Given the description of an element on the screen output the (x, y) to click on. 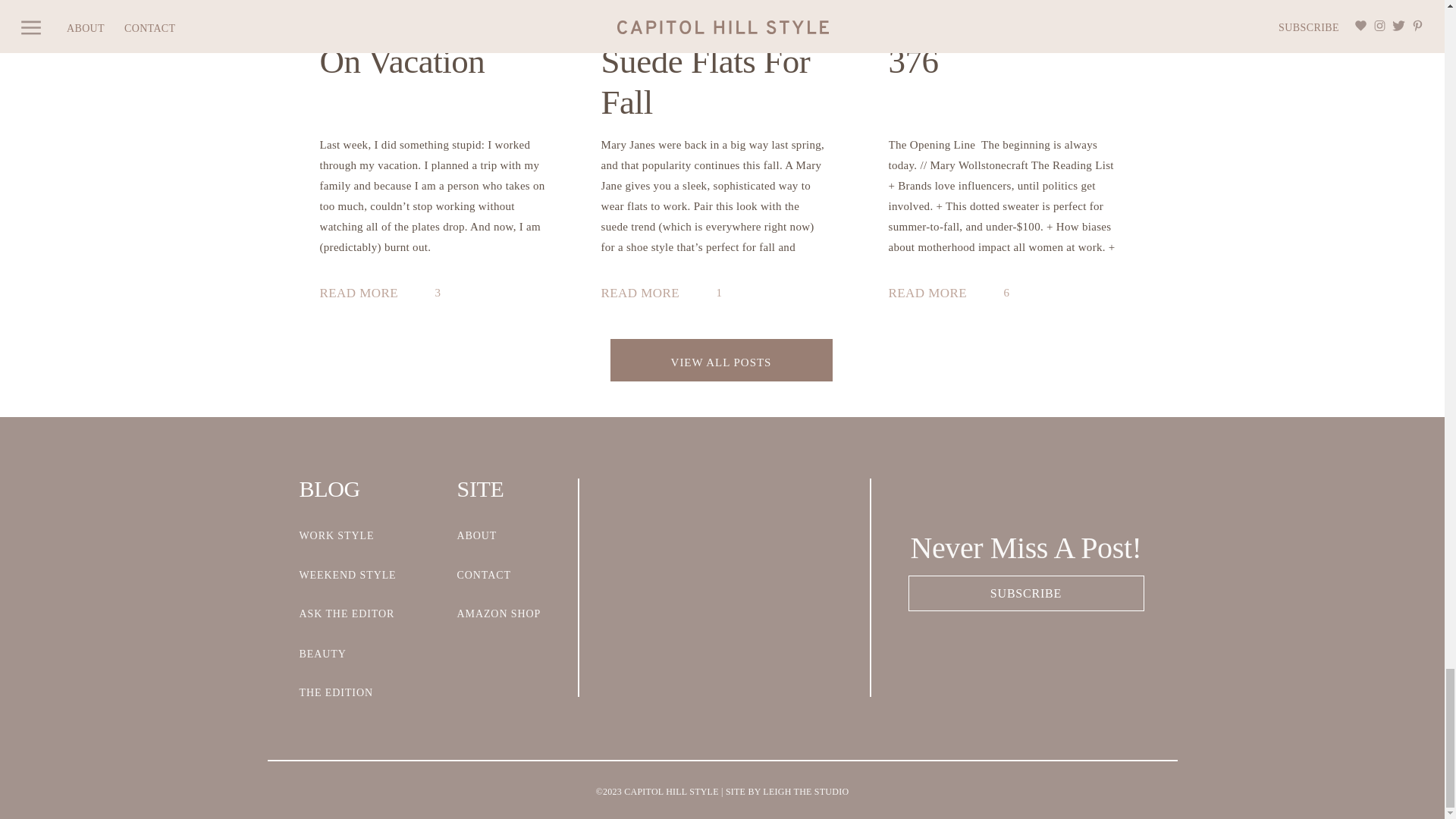
The Range: Suede Flats for Fall (646, 294)
The Edition: No. 376 (933, 294)
Out of Office: On Vacation (366, 294)
